Given the description of an element on the screen output the (x, y) to click on. 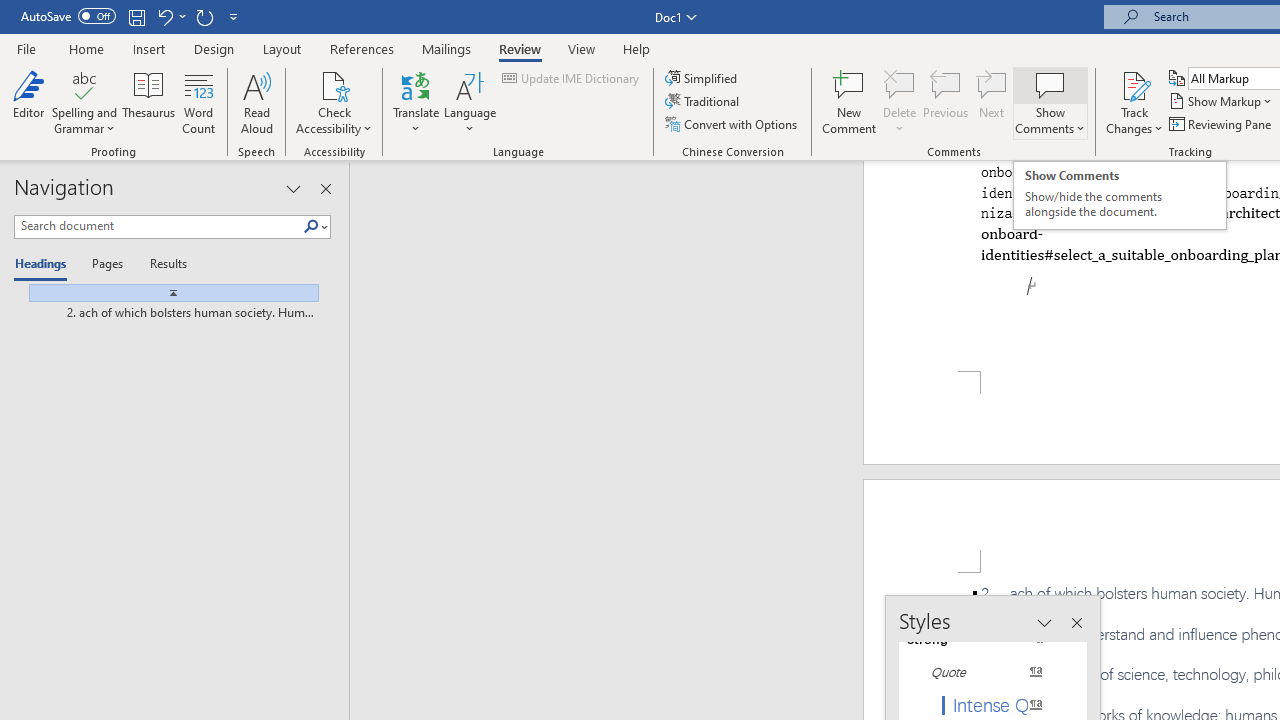
Check Accessibility (334, 84)
Jump to the beginning (166, 292)
Spelling and Grammar (84, 102)
Reviewing Pane (1221, 124)
Convert with Options... (732, 124)
Track Changes (1134, 84)
